Given the description of an element on the screen output the (x, y) to click on. 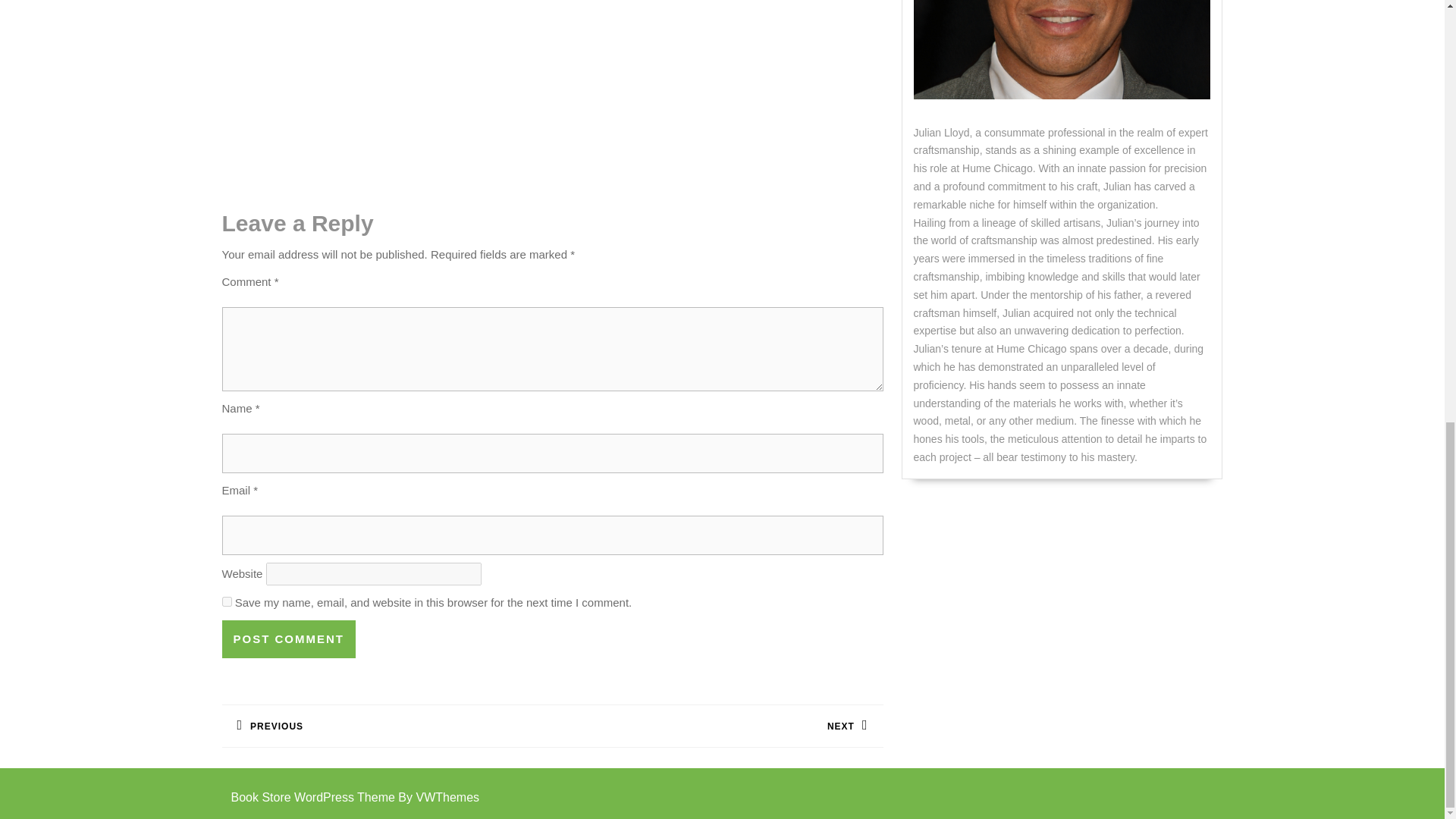
Book Store WordPress Theme (312, 797)
yes (226, 601)
Post Comment (716, 725)
Post Comment (386, 725)
